Given the description of an element on the screen output the (x, y) to click on. 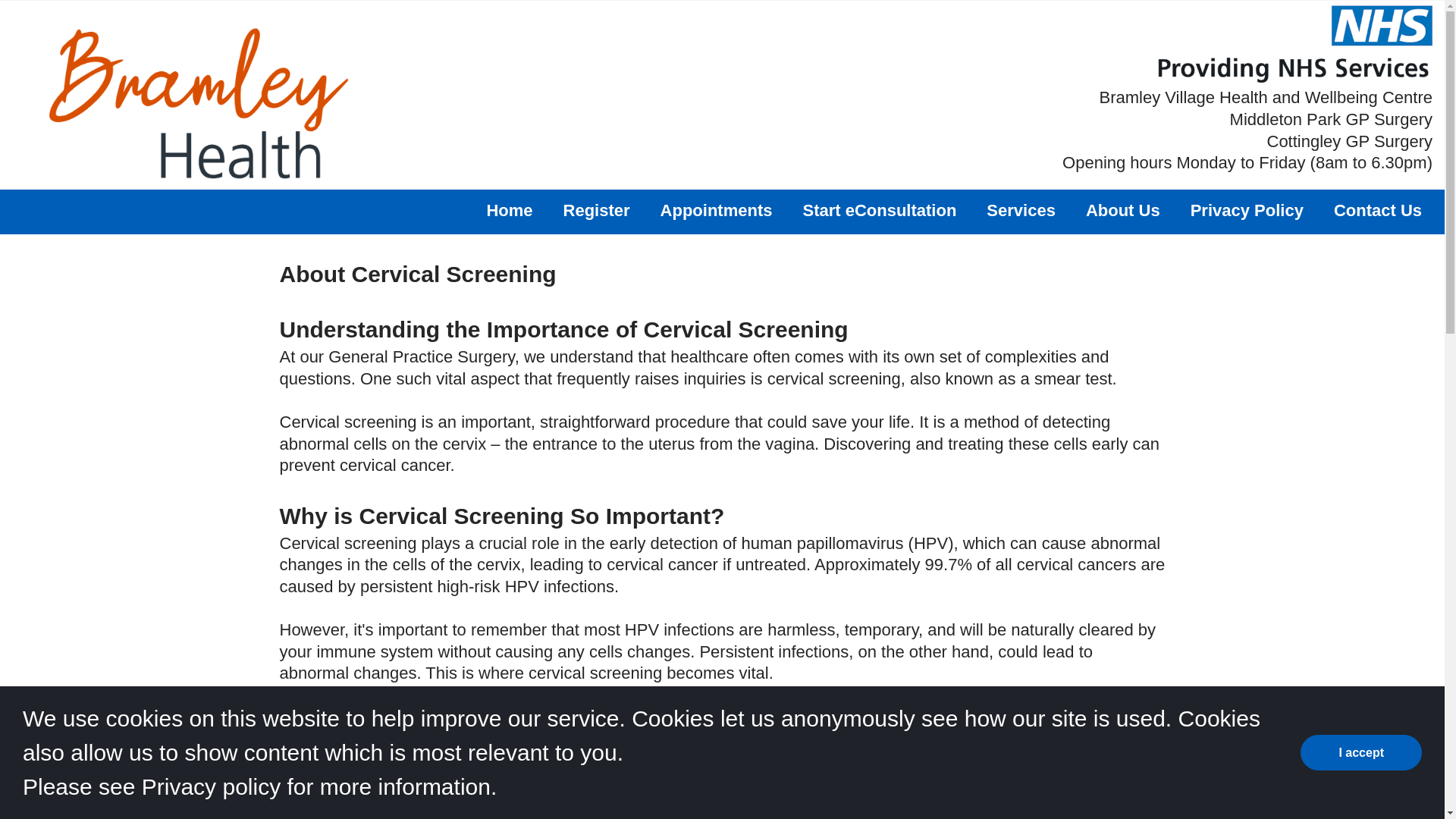
Start eConsultation (879, 210)
About Us (1123, 210)
Appointments (717, 210)
Privacy Policy (1247, 210)
Contact Us (1377, 210)
Home (509, 210)
Providing NHS Service (1293, 43)
Register (596, 210)
Services (1021, 210)
